Given the description of an element on the screen output the (x, y) to click on. 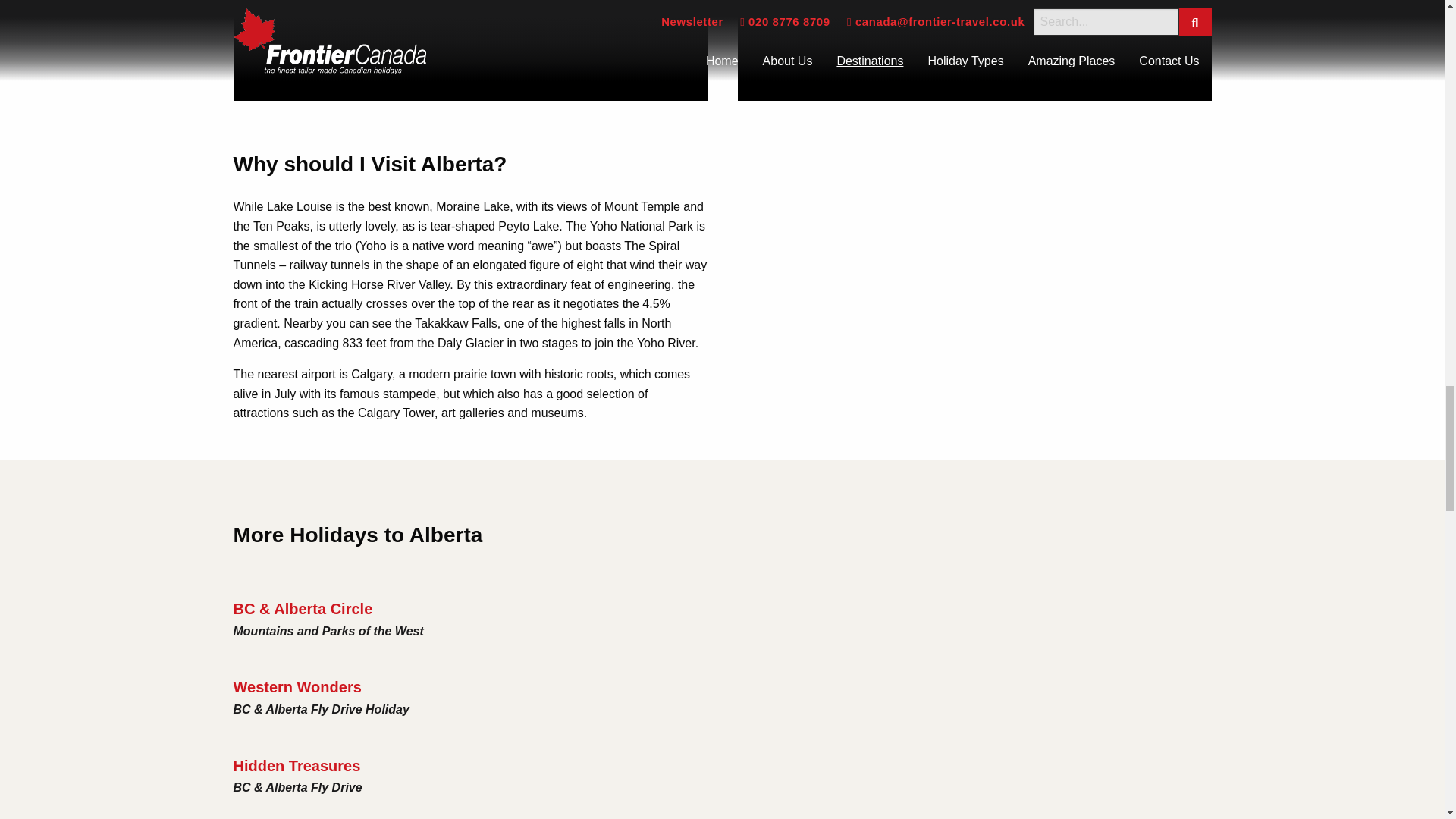
Canada's Wild Side (973, 282)
